Given the description of an element on the screen output the (x, y) to click on. 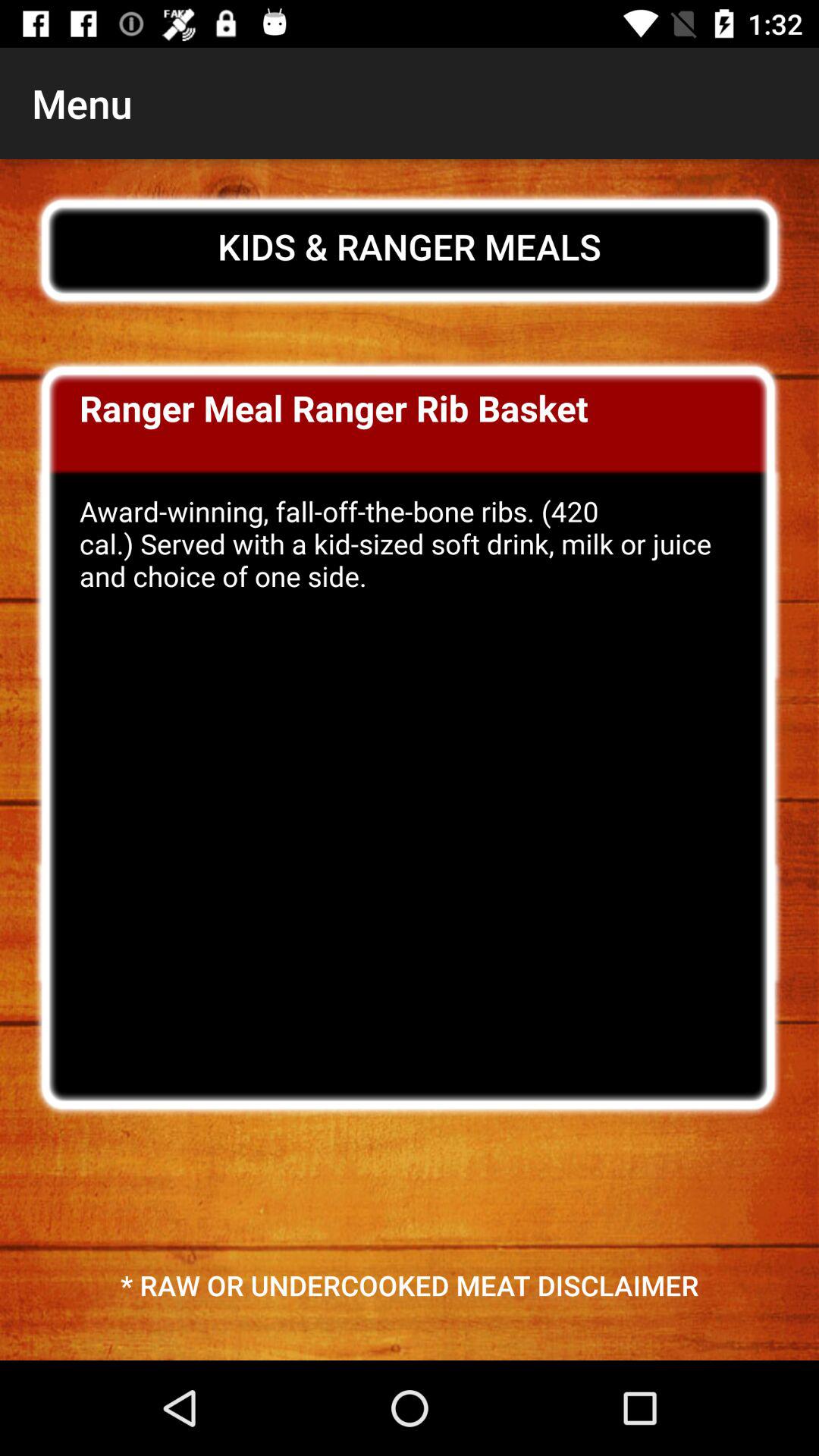
open the raw or undercooked item (409, 1285)
